Given the description of an element on the screen output the (x, y) to click on. 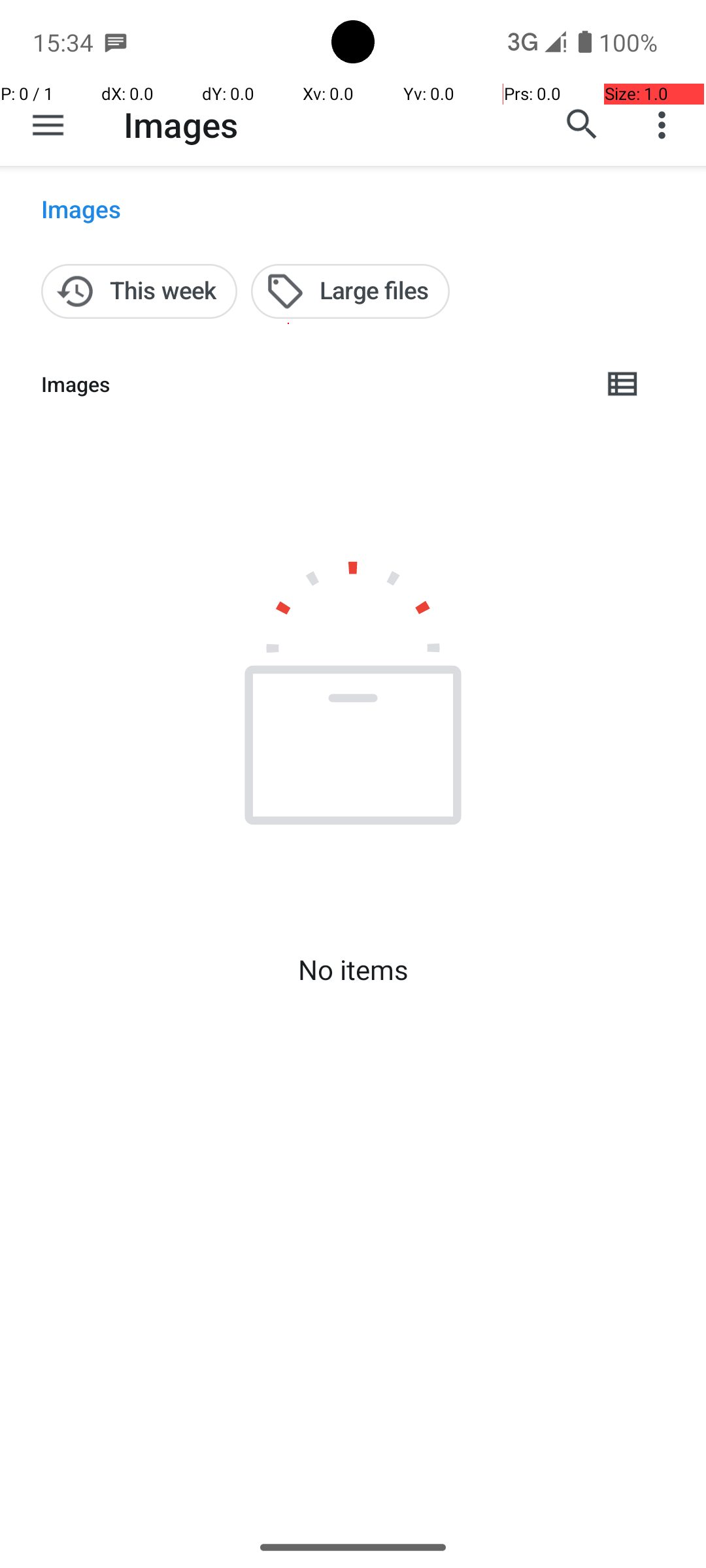
This week Element type: android.widget.CompoundButton (139, 291)
Large files Element type: android.widget.CompoundButton (350, 291)
No items Element type: android.widget.TextView (352, 968)
SMS Messenger notification: +12845986552 Element type: android.widget.ImageView (115, 41)
